Given the description of an element on the screen output the (x, y) to click on. 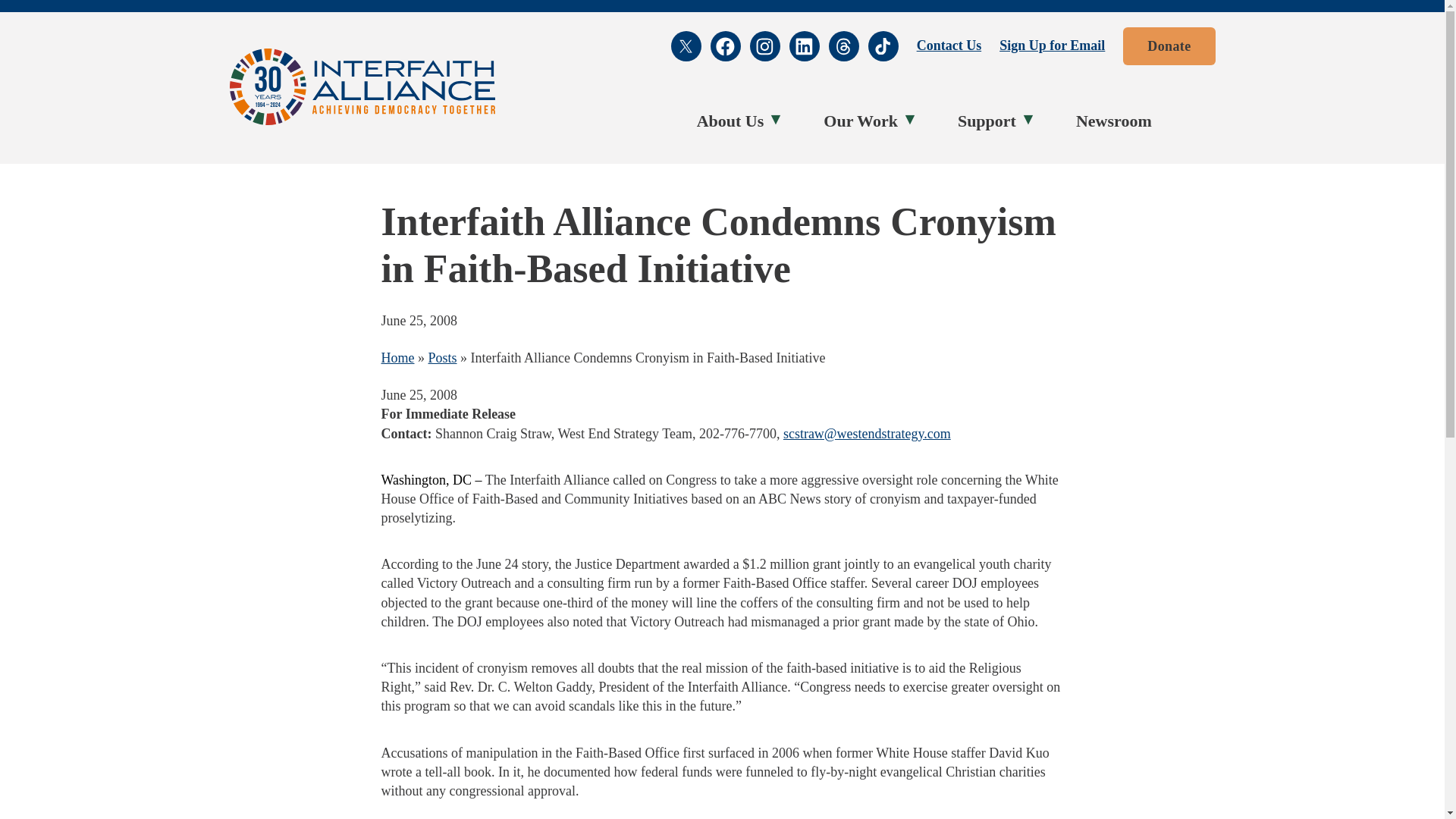
LinkedIn (804, 46)
Facebook (725, 46)
Contact Us (949, 45)
Instagram (764, 46)
Threads (843, 46)
Sign Up for Email (1051, 45)
Our Work (864, 121)
TikTok (882, 46)
About Us (734, 121)
Donate (1168, 46)
